Given the description of an element on the screen output the (x, y) to click on. 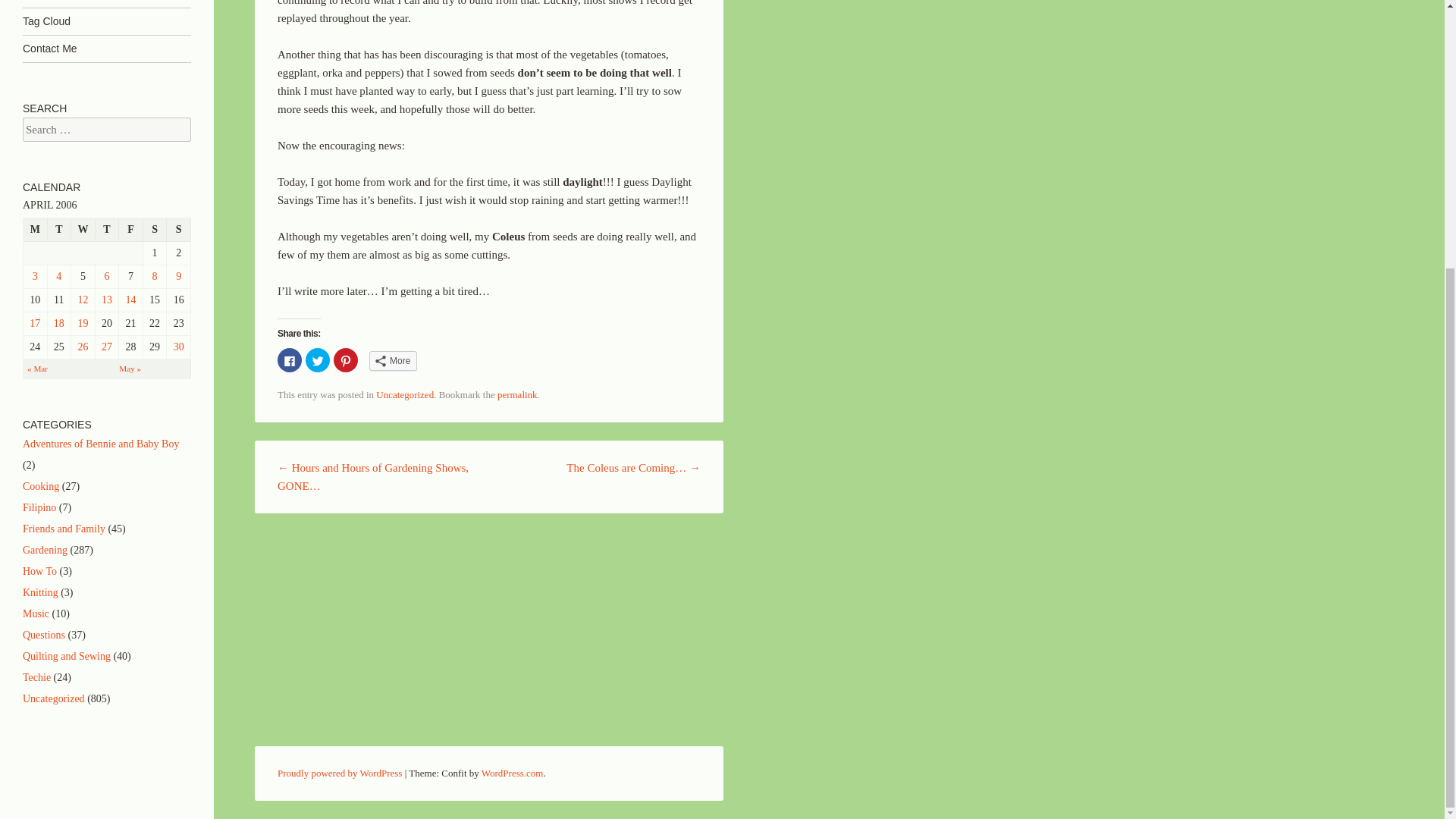
12 (82, 299)
Click to share on Twitter (317, 360)
More (392, 361)
Instagram (106, 3)
Click to share on Facebook (289, 360)
Tag Cloud (106, 21)
Uncategorized (404, 394)
Click to share on Pinterest (345, 360)
permalink (517, 394)
Contact Me (106, 49)
